Given the description of an element on the screen output the (x, y) to click on. 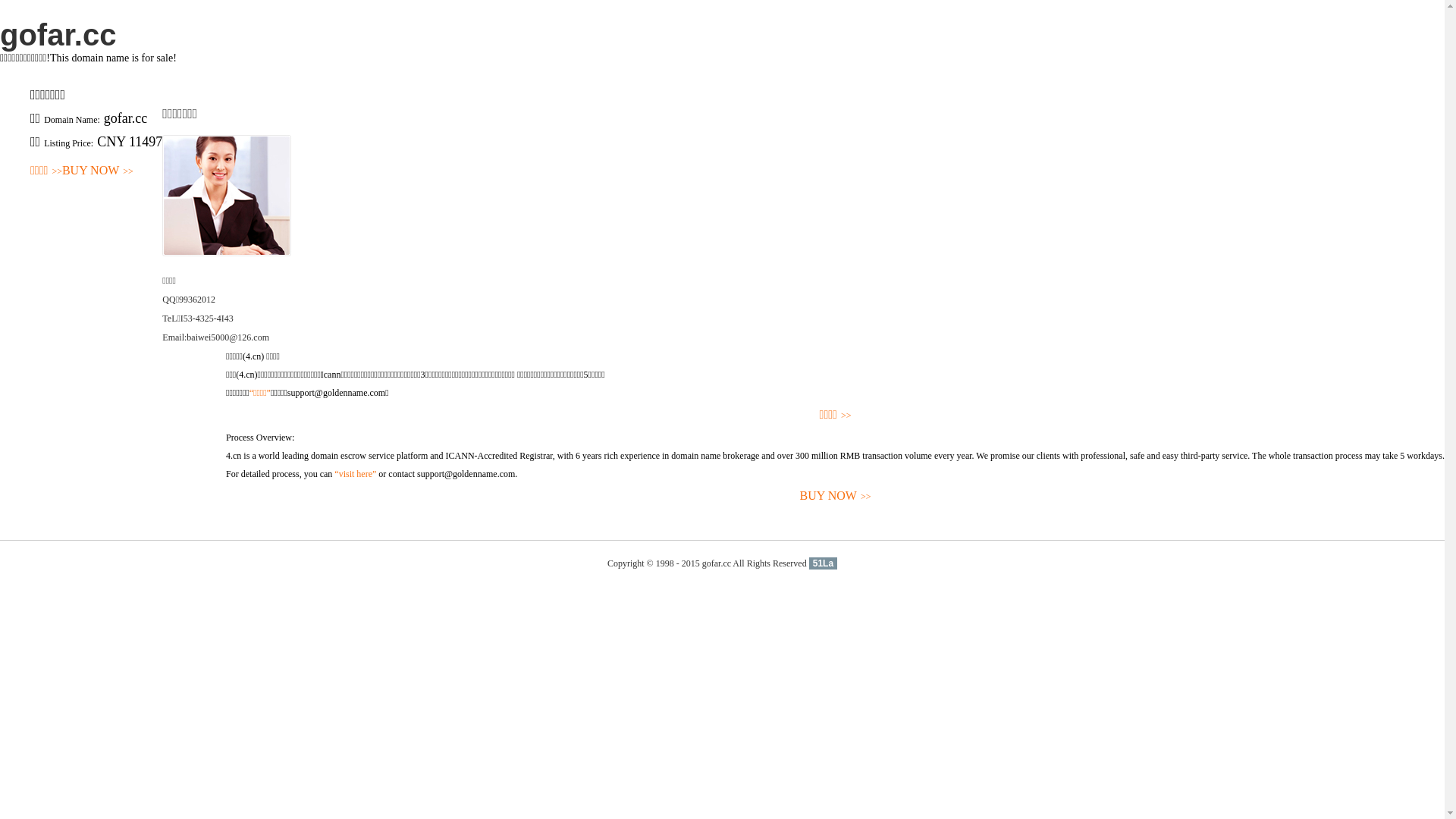
BUY NOW>> Element type: text (834, 496)
BUY NOW>> Element type: text (97, 170)
51La Element type: text (823, 563)
